Given the description of an element on the screen output the (x, y) to click on. 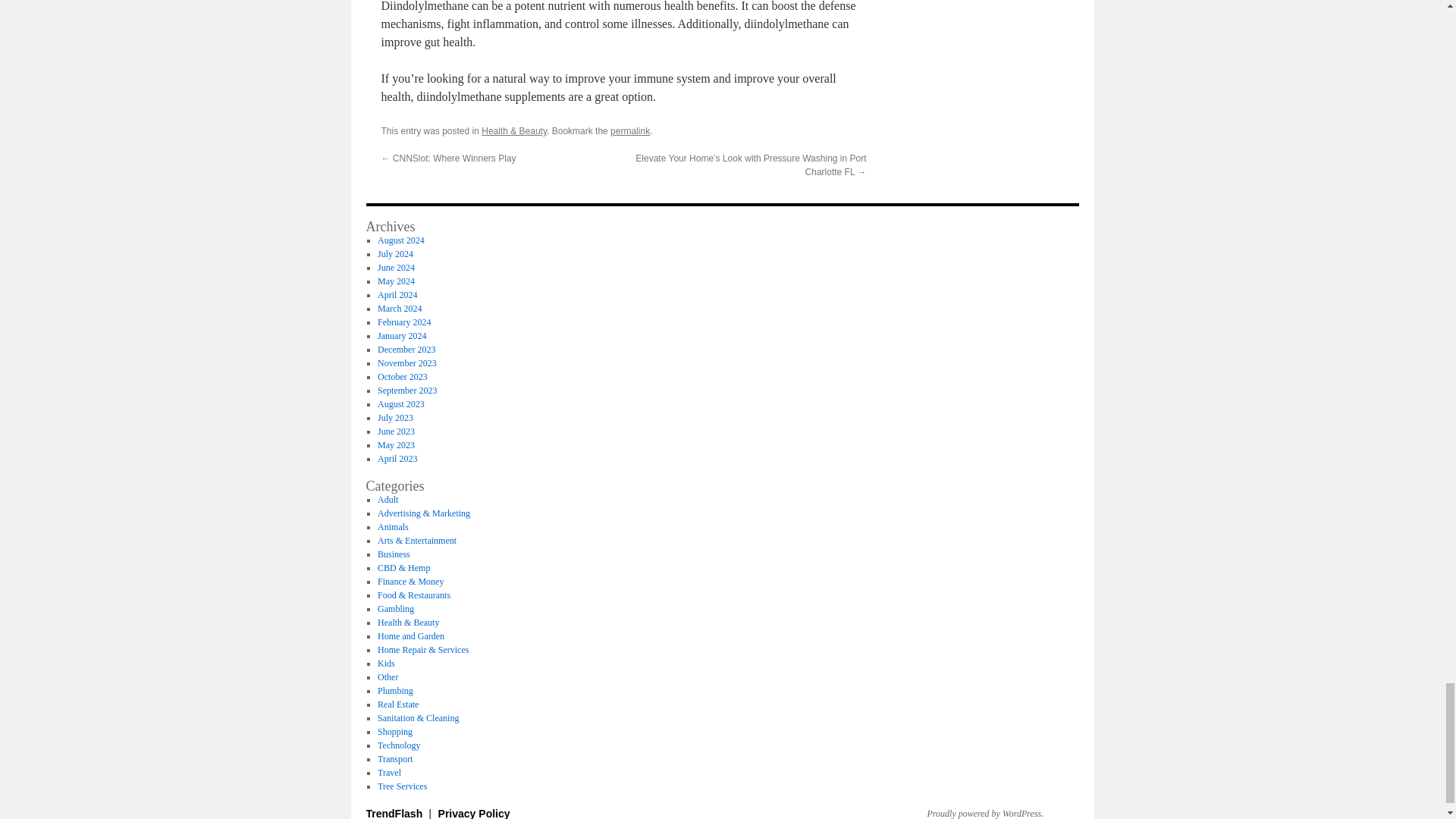
May 2023 (395, 444)
April 2023 (396, 458)
permalink (629, 131)
July 2024 (395, 253)
April 2024 (396, 294)
November 2023 (406, 362)
June 2024 (395, 267)
March 2024 (399, 308)
October 2023 (402, 376)
